Given the description of an element on the screen output the (x, y) to click on. 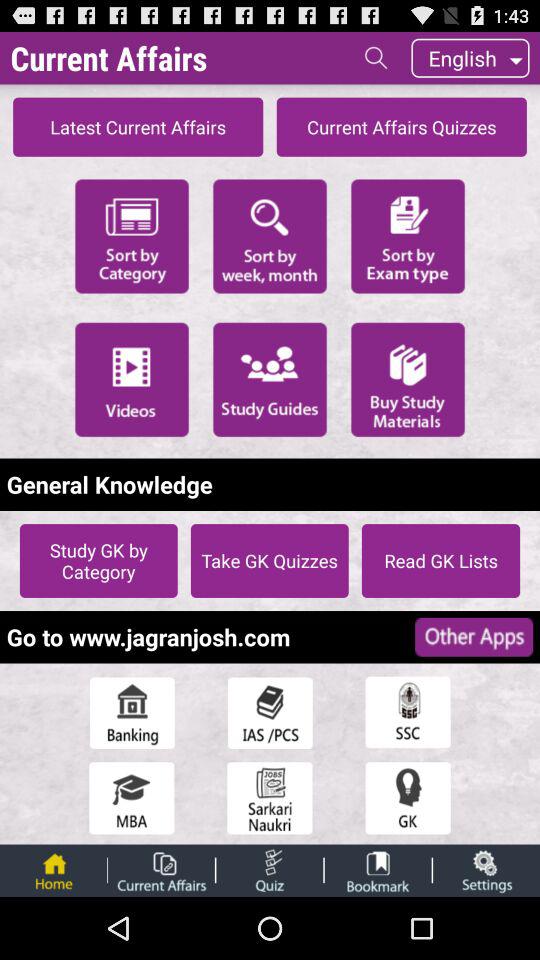
view bookimarks (378, 870)
